Given the description of an element on the screen output the (x, y) to click on. 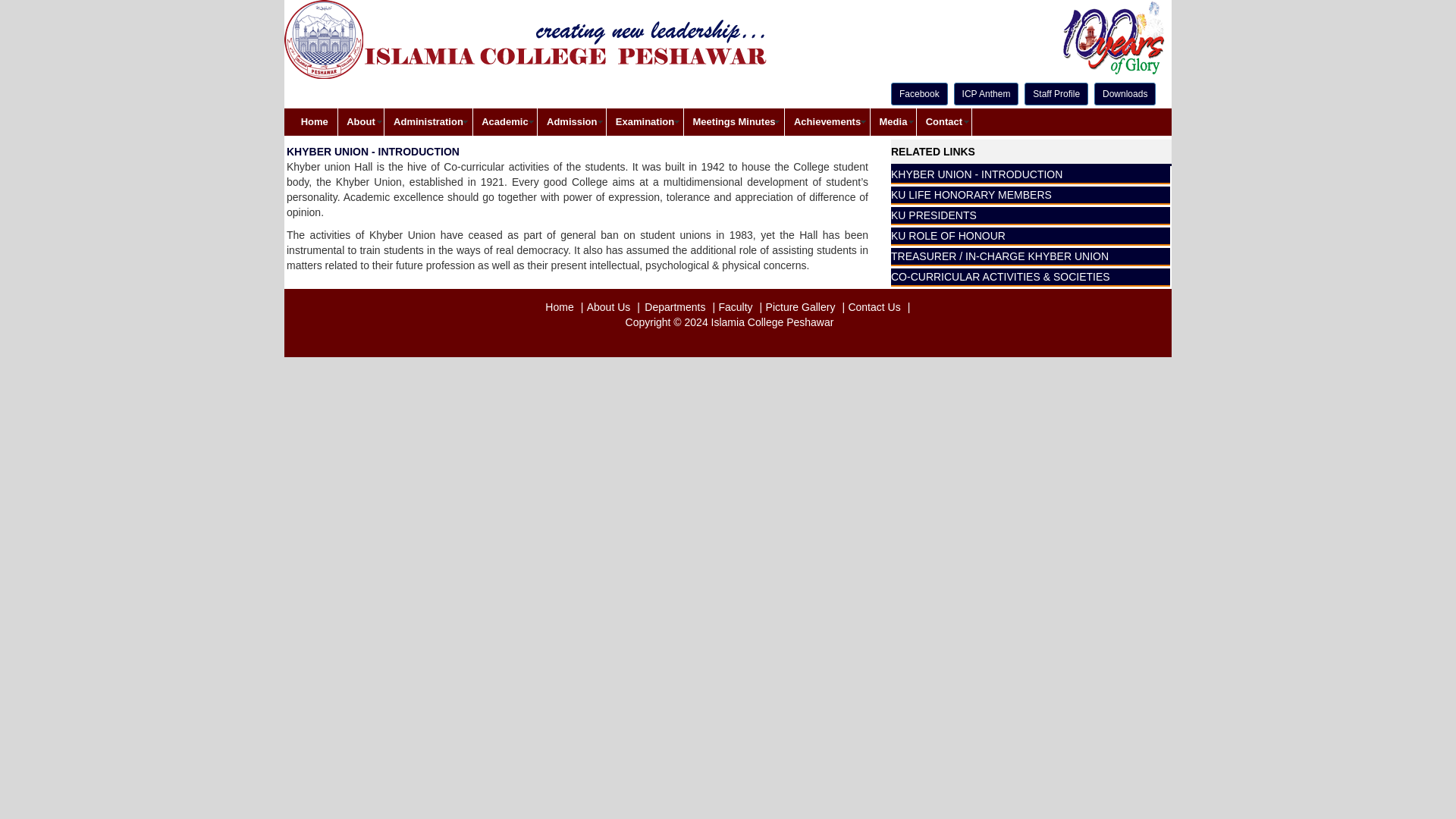
Examination (644, 121)
Home (314, 121)
Staff Profile (1056, 93)
Facebook (919, 93)
Academic (505, 121)
Admission (571, 121)
Administration (427, 121)
About (360, 121)
Achievements (826, 121)
Downloads (1125, 93)
